Given the description of an element on the screen output the (x, y) to click on. 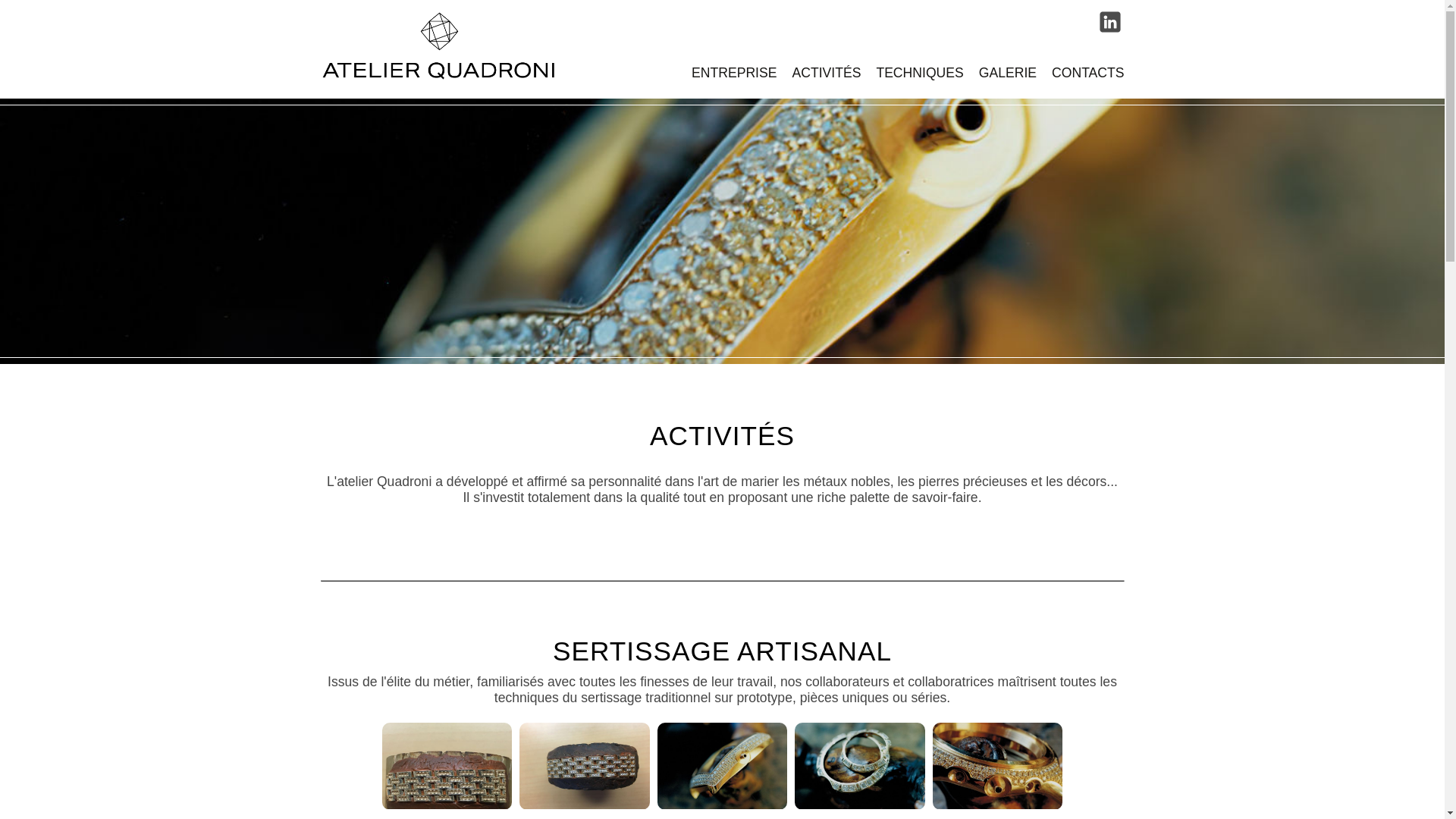
ENTREPRISE Element type: text (733, 73)
GALERIE Element type: text (1007, 73)
CONTACTS Element type: text (1087, 73)
TECHNIQUES Element type: text (919, 73)
